Given the description of an element on the screen output the (x, y) to click on. 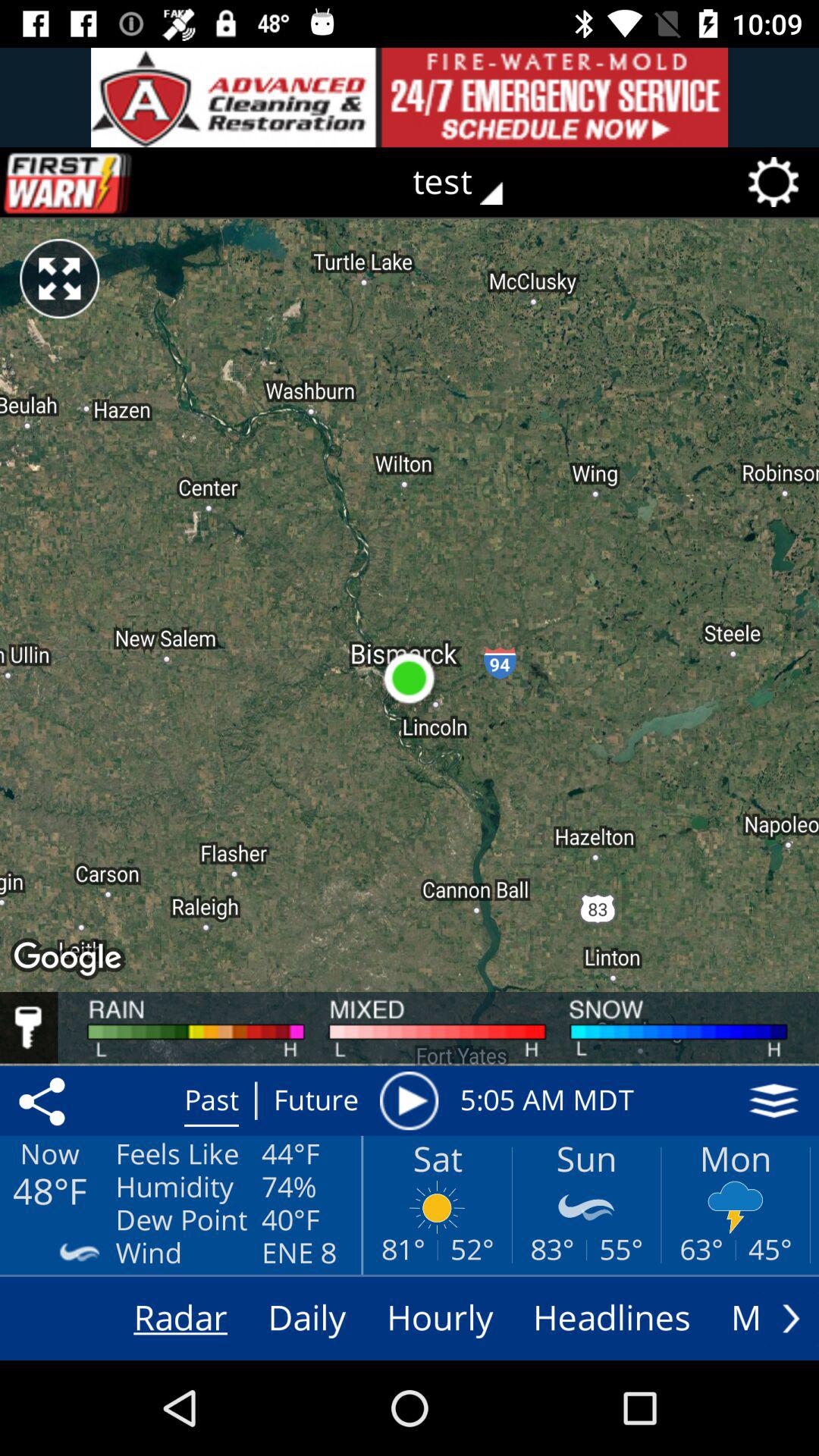
play weather (409, 1100)
